Given the description of an element on the screen output the (x, y) to click on. 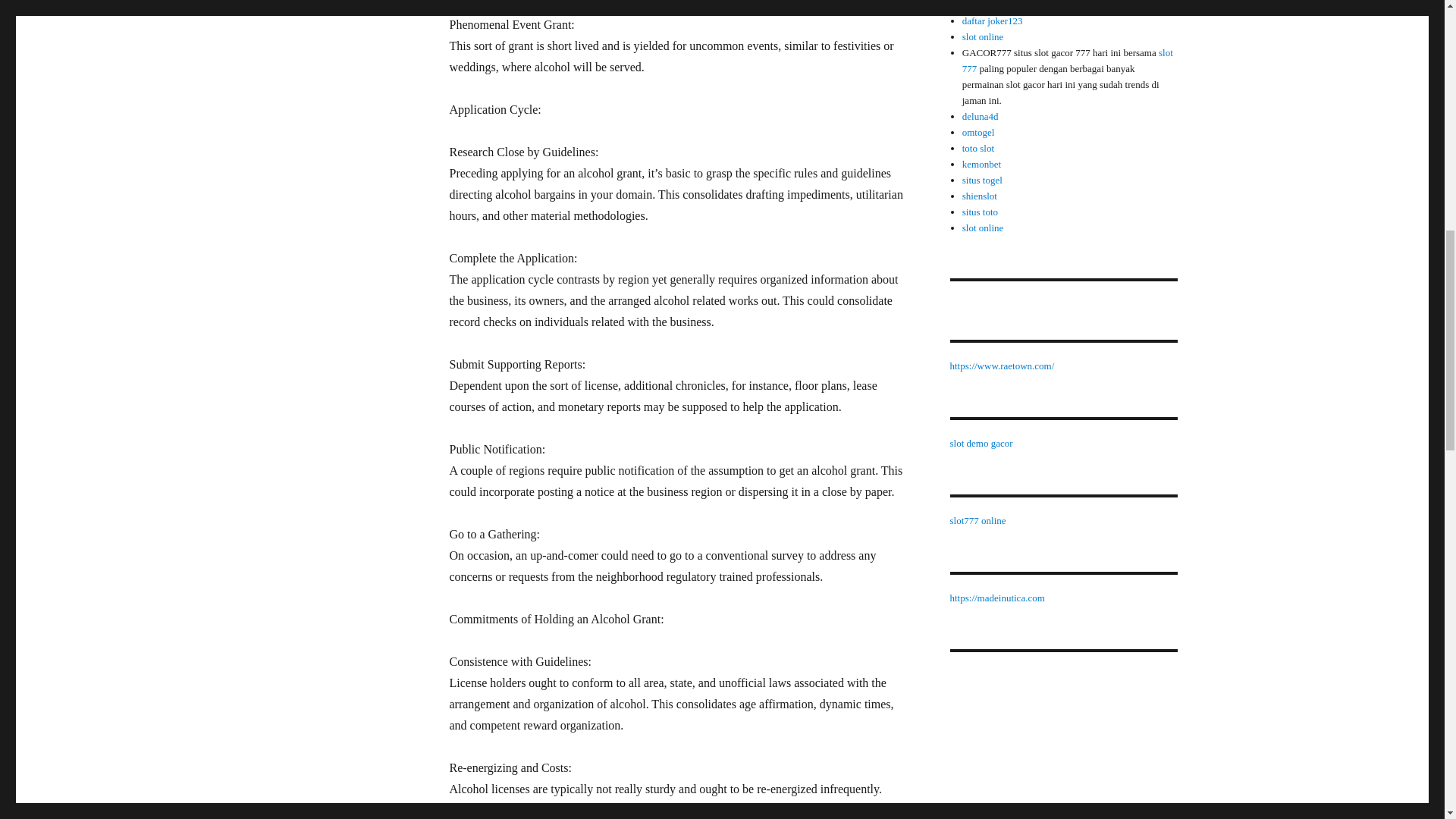
deluna4d (980, 116)
slot online (983, 36)
omtogel (978, 132)
slot 777 (1067, 60)
daftar joker123 (992, 5)
daftar joker123 (992, 20)
